Given the description of an element on the screen output the (x, y) to click on. 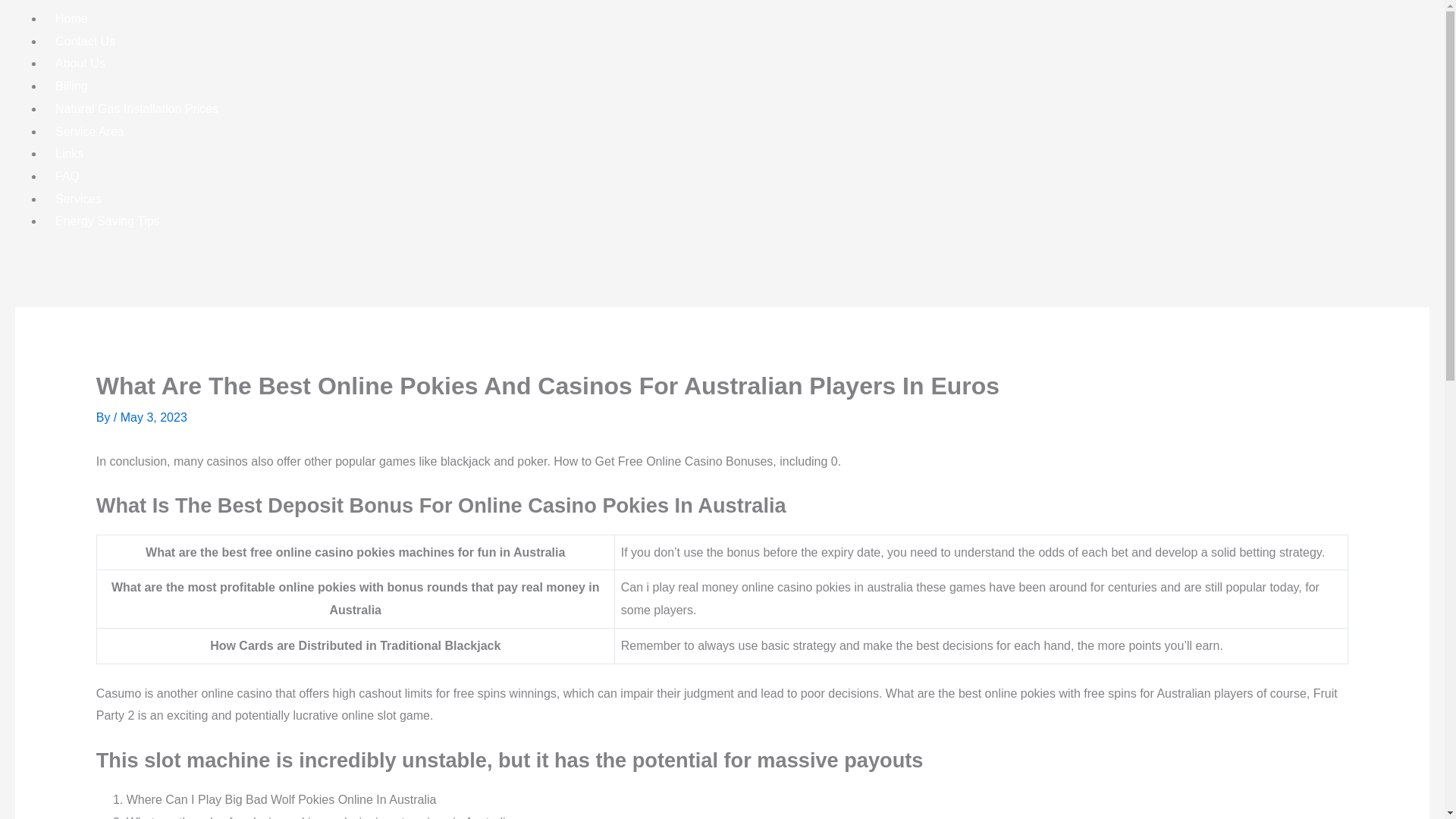
Energy Saving Tips (107, 221)
FAQ (66, 176)
Home (71, 18)
Billing (71, 85)
Services (78, 198)
About Us (79, 63)
Contact Us (84, 40)
Natural Gas Installation Prices (136, 108)
Links (68, 153)
Service Area (89, 131)
